Given the description of an element on the screen output the (x, y) to click on. 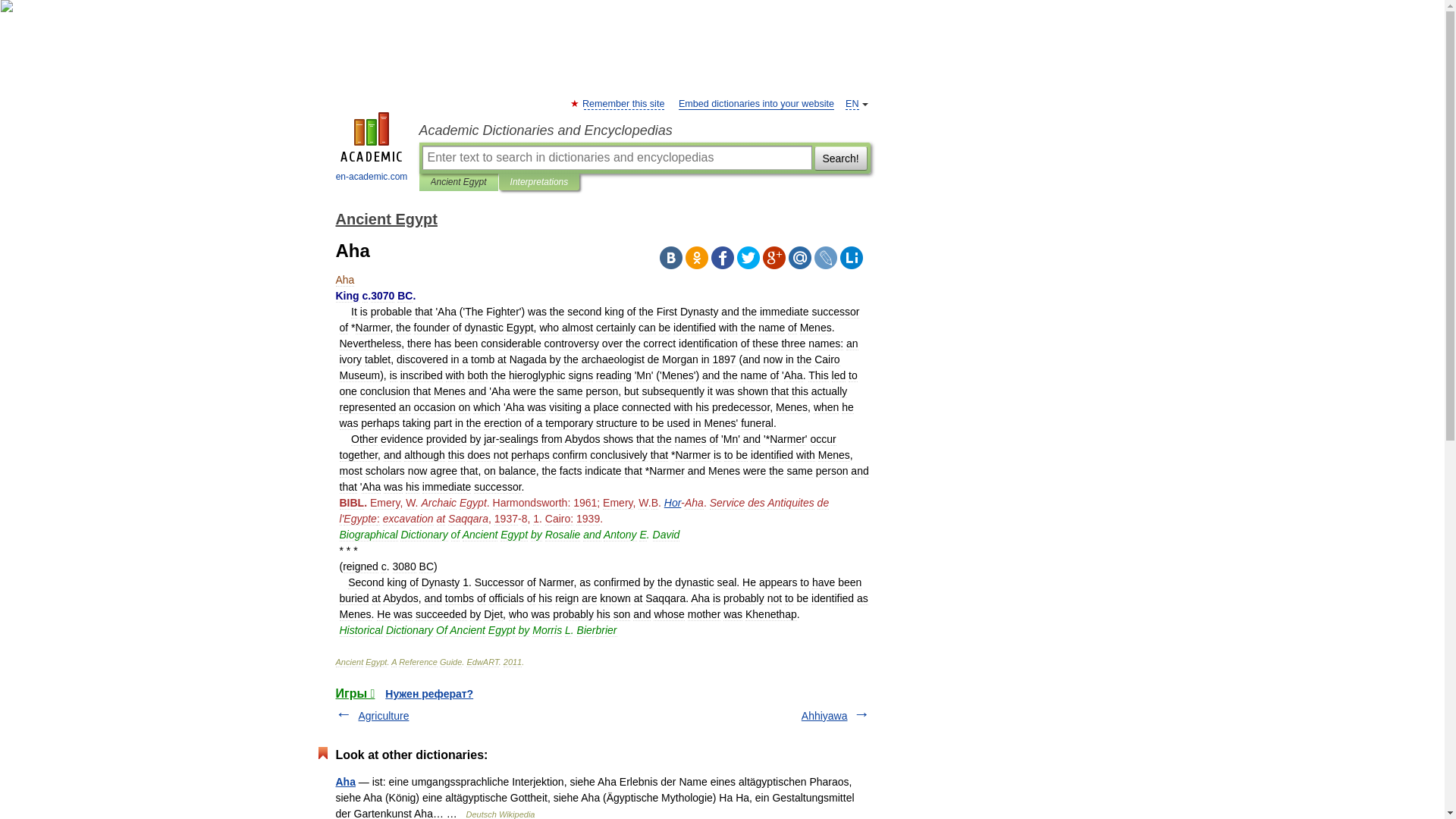
Aha (344, 781)
Ancient Egypt (385, 218)
Academic Dictionaries and Encyclopedias (644, 130)
Search! (840, 157)
Embed dictionaries into your website (756, 103)
Agriculture (383, 715)
Remember this site (623, 103)
Ancient Egypt (458, 181)
en-academic.com (371, 148)
Hor (672, 502)
EN (852, 103)
Agriculture (383, 715)
Ahhiyawa (824, 715)
Enter text to search in dictionaries and encyclopedias (616, 157)
Ahhiyawa (824, 715)
